Given the description of an element on the screen output the (x, y) to click on. 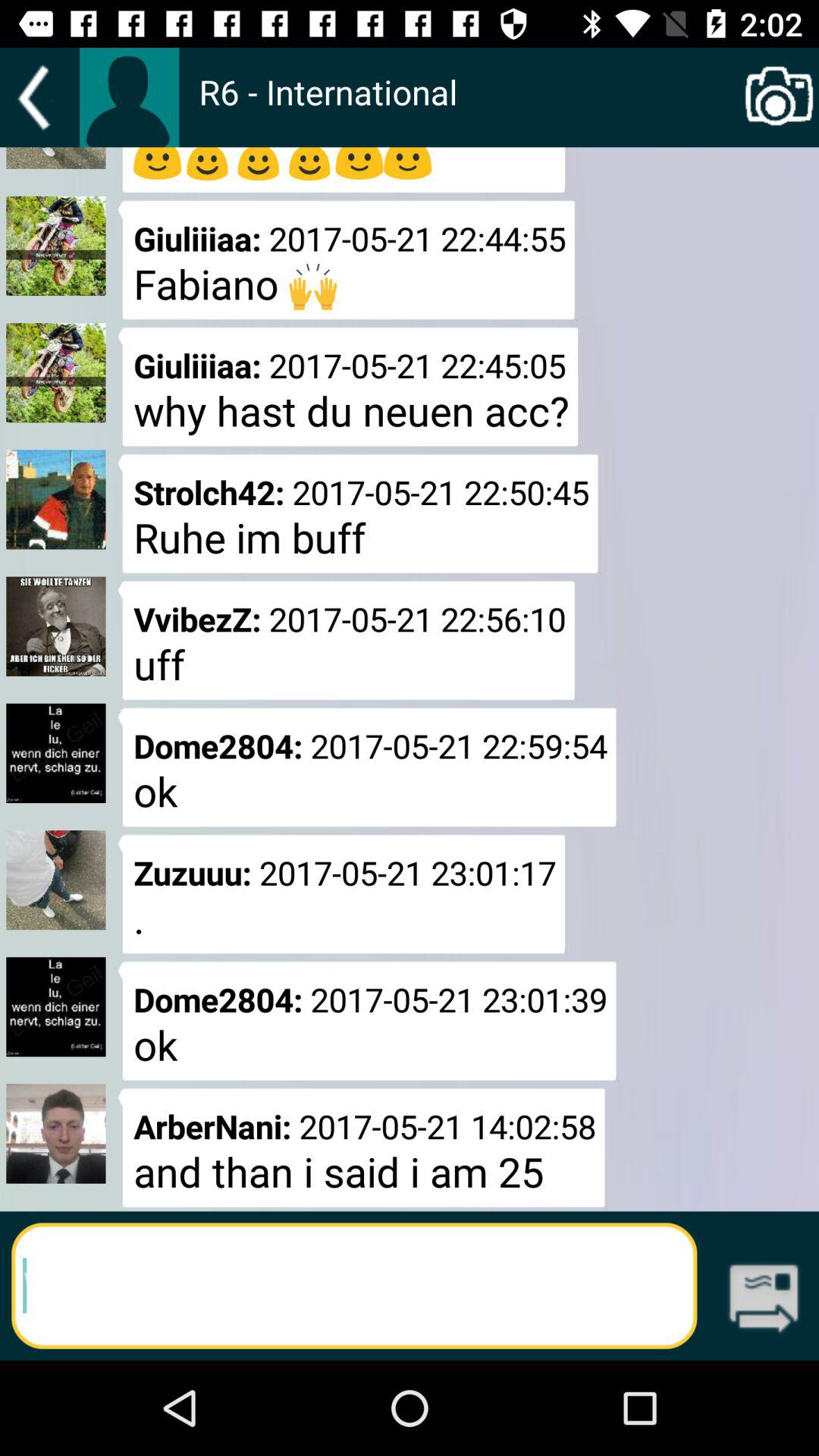
turn off item above zuzuuu 2017 05 app (469, 107)
